Given the description of an element on the screen output the (x, y) to click on. 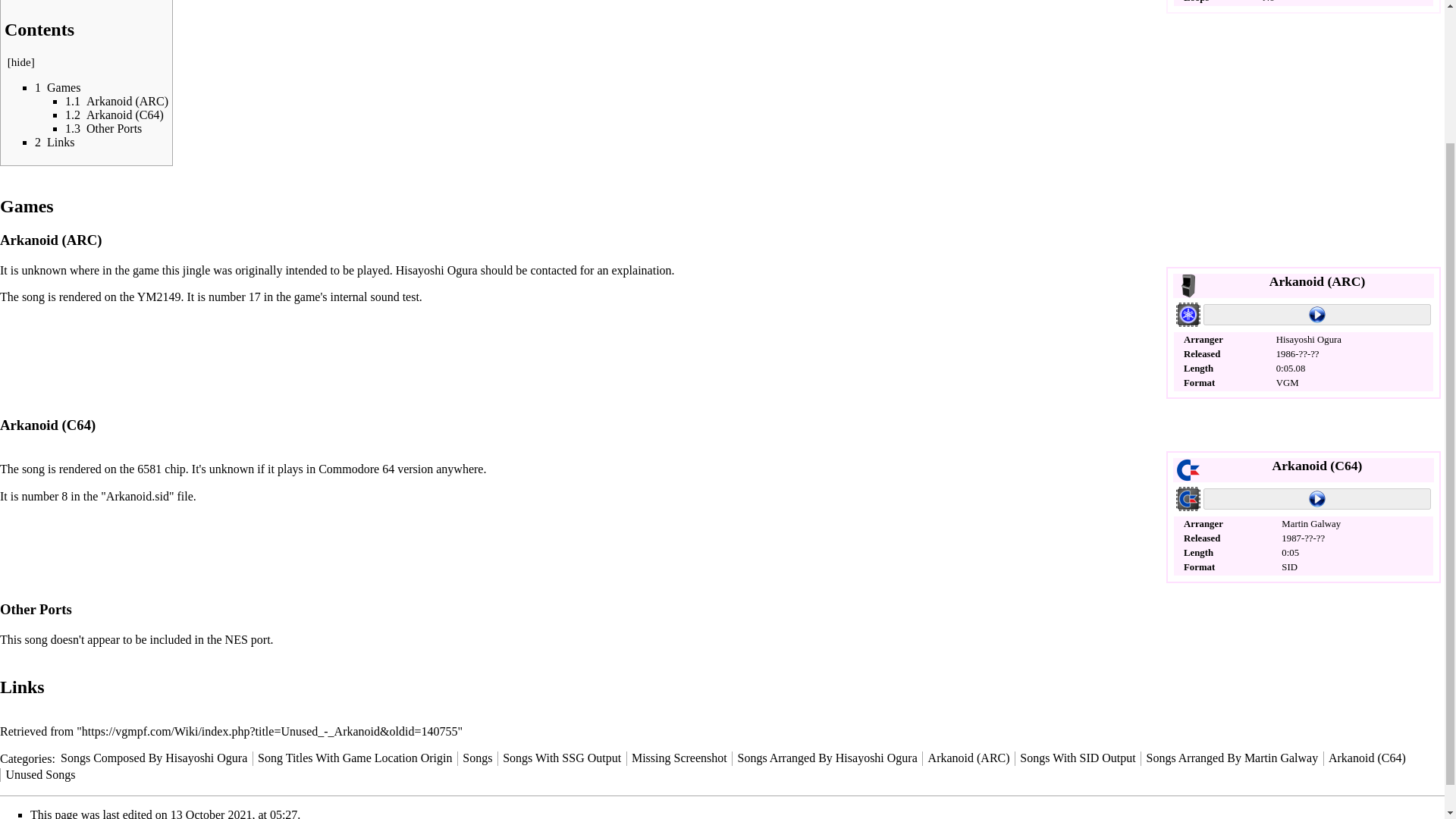
Output - SSG (1187, 312)
Hisayoshi Ogura (1308, 339)
2 Links (54, 141)
1.3 Other Ports (103, 128)
1 Games (57, 87)
Songs With SSG Output (561, 757)
Songs (477, 757)
Special:Categories (25, 757)
Output - SID (1187, 497)
Hisayoshi Ogura (1308, 339)
Hisayoshi Ogura (436, 269)
Play sound (1317, 498)
Unused Songs (40, 774)
Songs Composed By Hisayoshi Ogura (154, 757)
Hisayoshi Ogura (436, 269)
